Given the description of an element on the screen output the (x, y) to click on. 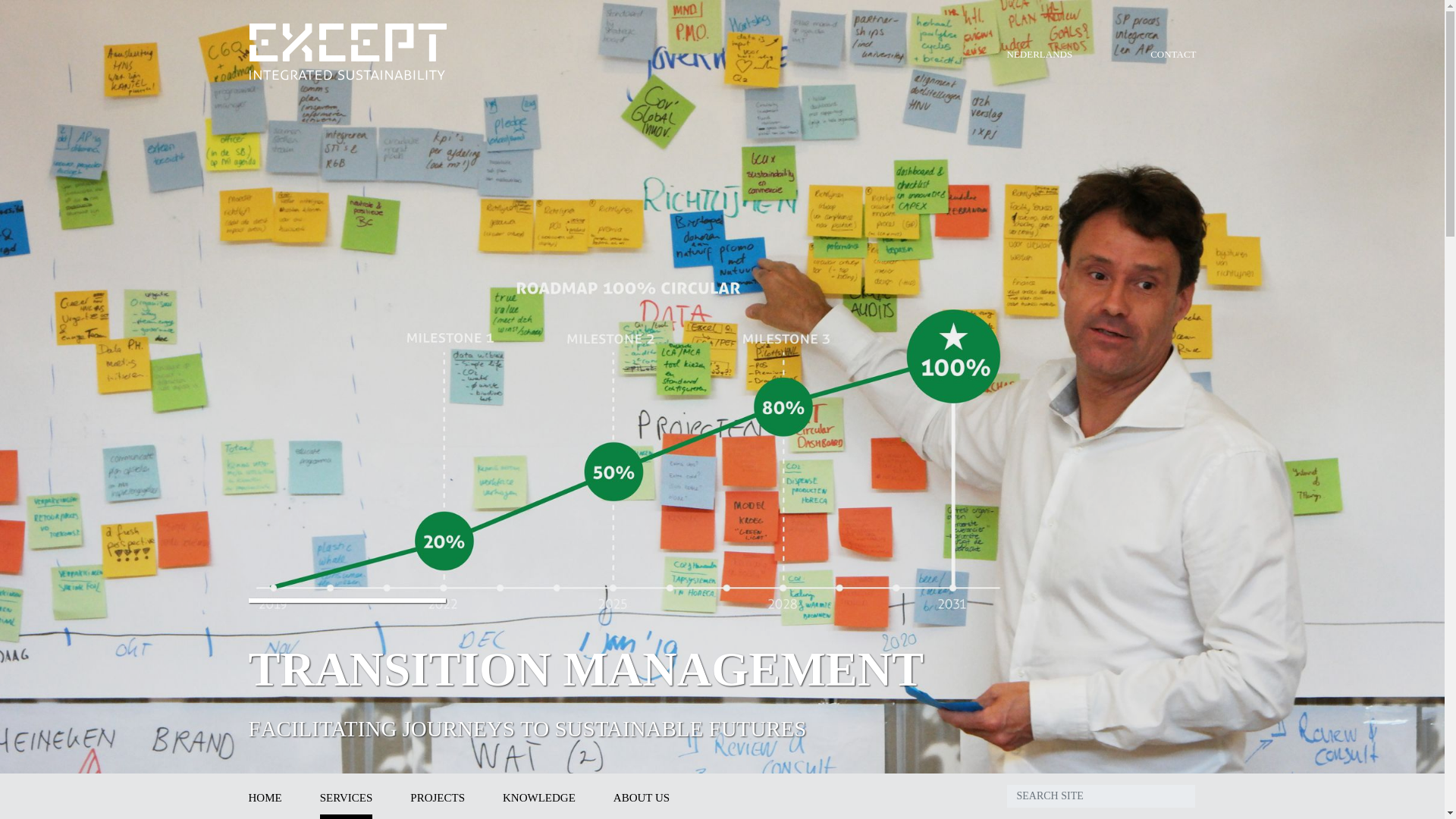
PROJECTS (437, 796)
NEDERLANDS (1040, 53)
KNOWLEDGE (538, 796)
SERVICES (346, 796)
ABOUT US (640, 796)
Contact (1172, 53)
HOME (265, 796)
